Given the description of an element on the screen output the (x, y) to click on. 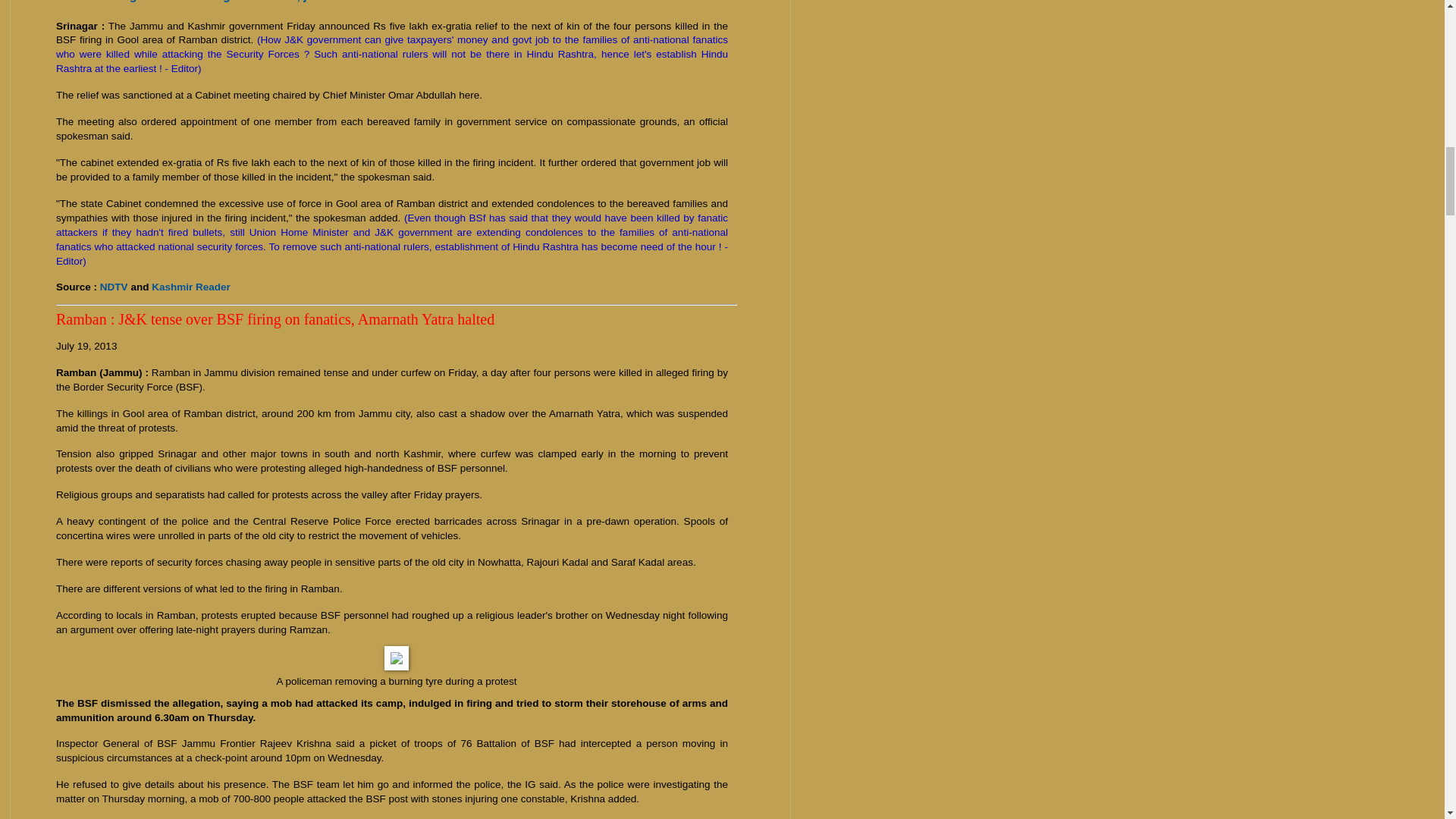
Kashmir Reader (190, 286)
NDTV (114, 286)
